Given the description of an element on the screen output the (x, y) to click on. 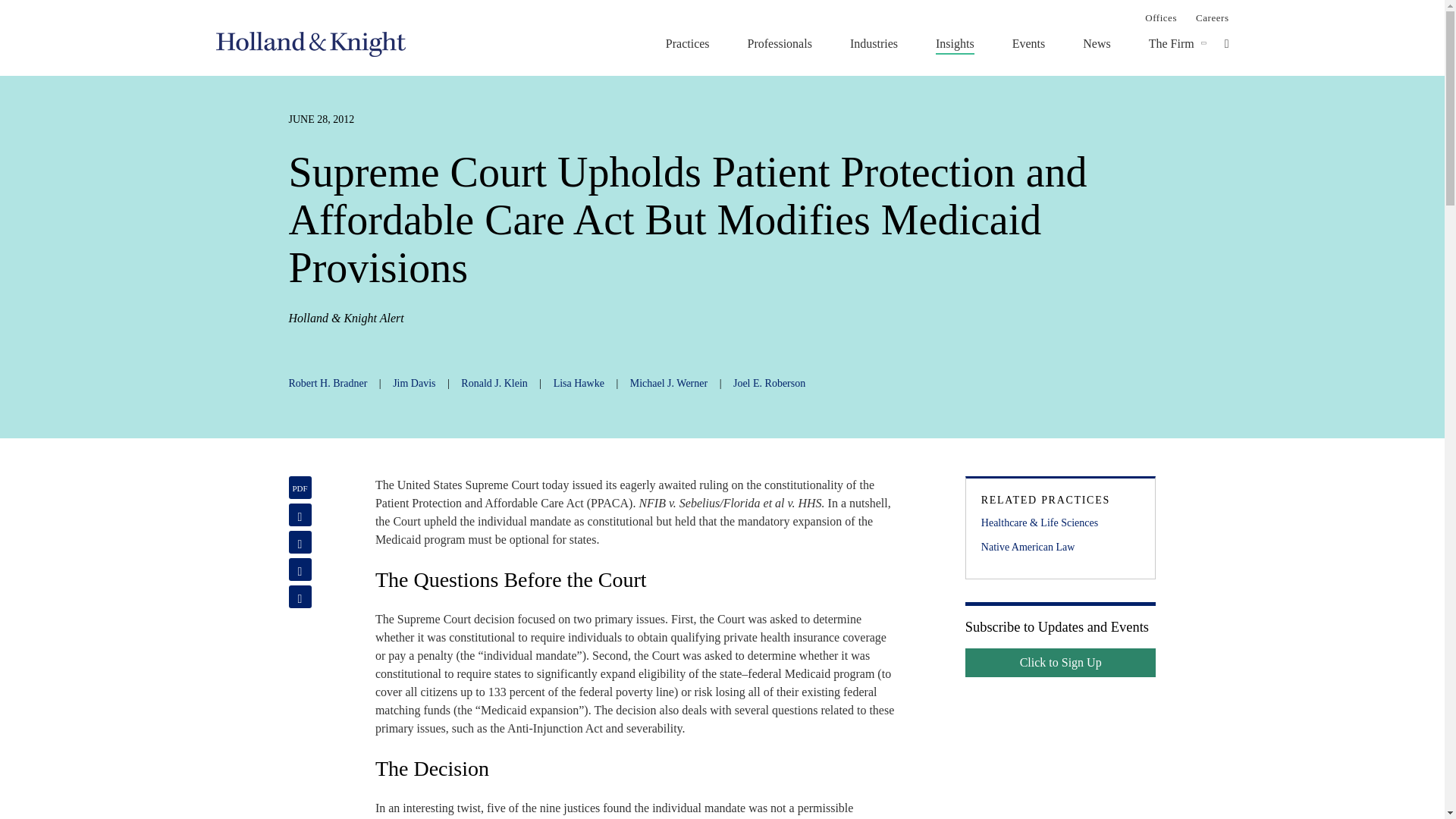
Robert H. Bradner (327, 383)
Lisa Hawke (578, 383)
Jim Davis (414, 383)
Offices (1160, 16)
Michael J. Werner (668, 383)
Joel E. Roberson (769, 383)
Industries (874, 42)
Careers (1211, 16)
Events (1028, 42)
Professionals (780, 42)
